Given the description of an element on the screen output the (x, y) to click on. 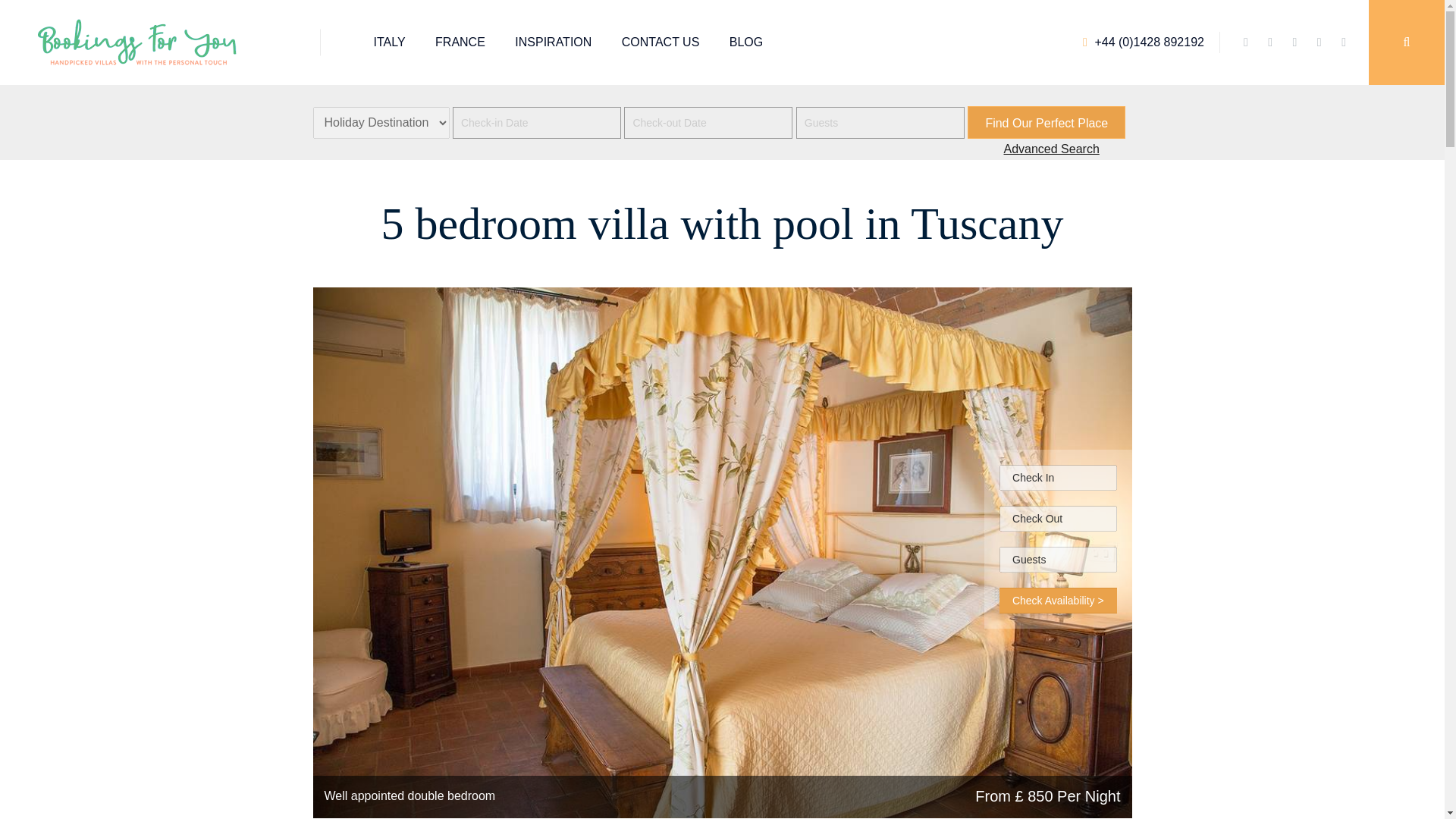
BLOG (745, 42)
FRANCE (459, 42)
Find Our Perfect Place (1046, 122)
INSPIRATION (553, 42)
ITALY (388, 42)
CONTACT US (660, 42)
